Given the description of an element on the screen output the (x, y) to click on. 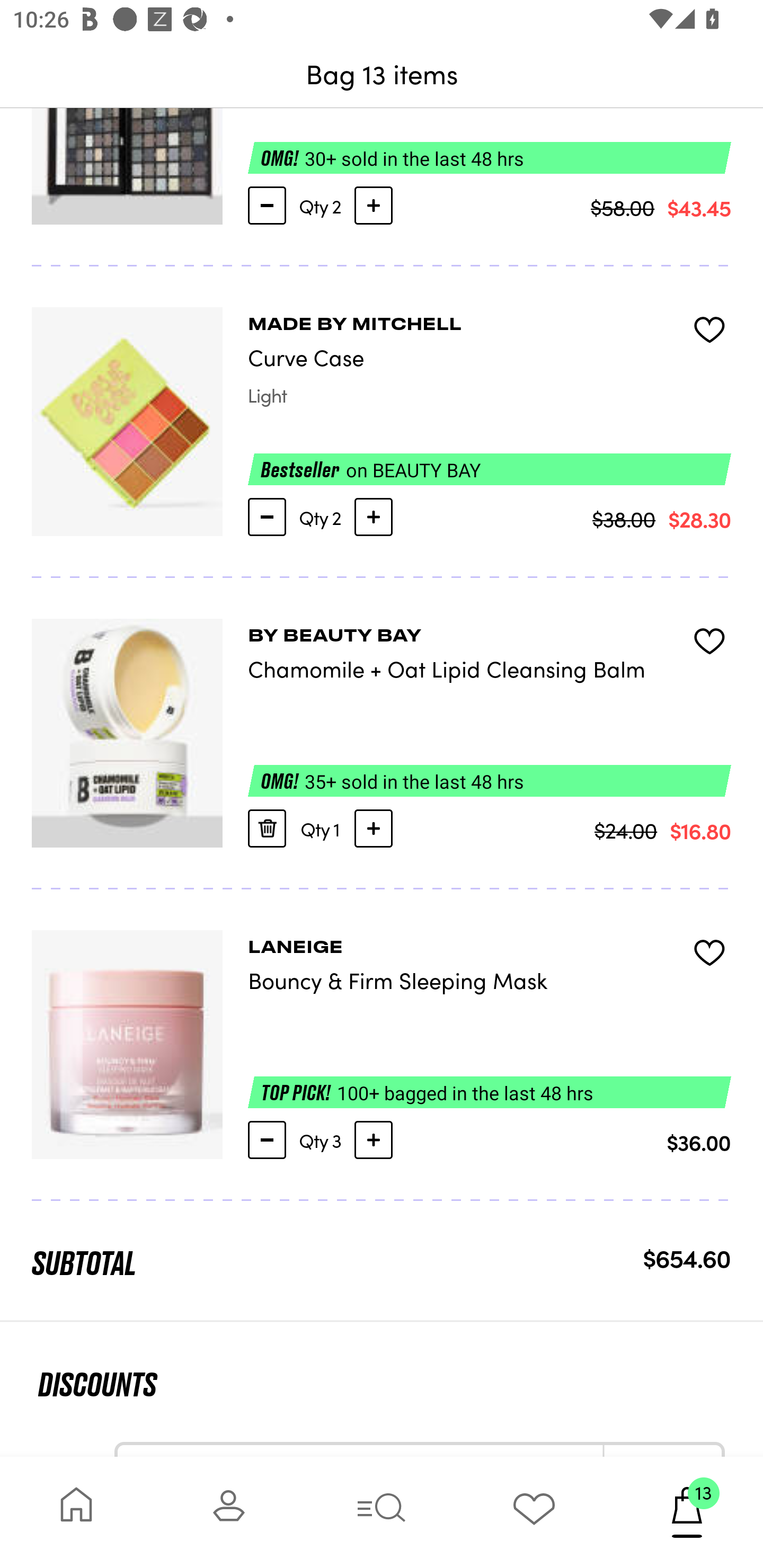
13 (686, 1512)
